Given the description of an element on the screen output the (x, y) to click on. 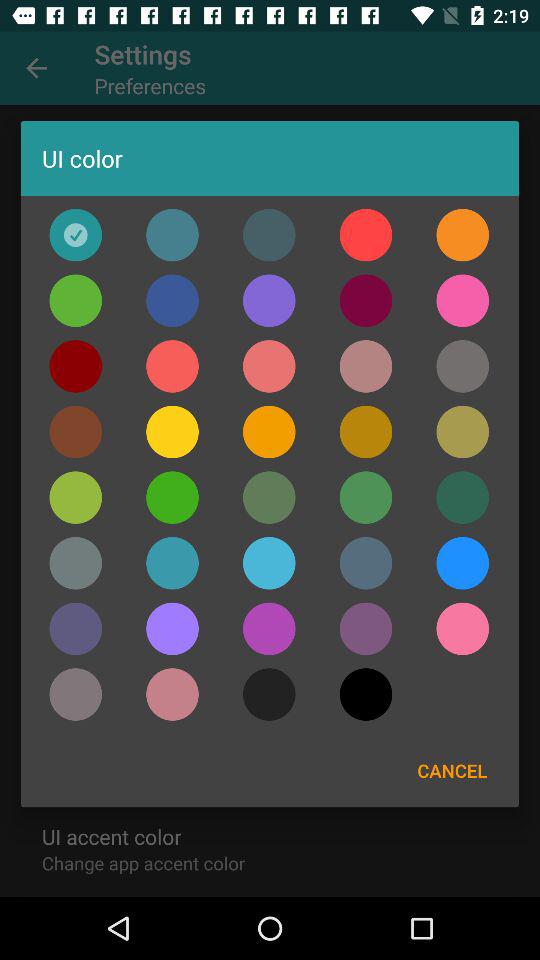
color option (365, 300)
